Given the description of an element on the screen output the (x, y) to click on. 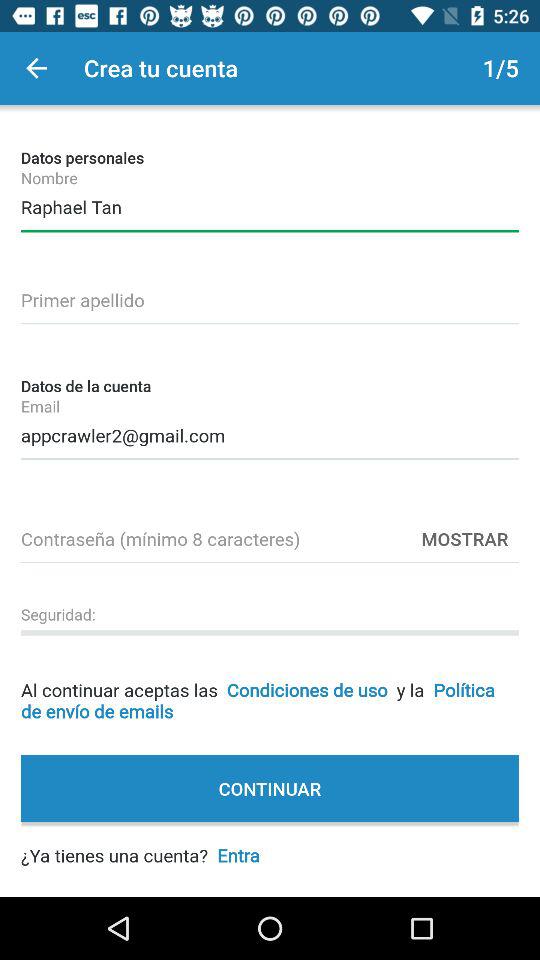
turn off the item above the seguridad:  item (270, 536)
